Given the description of an element on the screen output the (x, y) to click on. 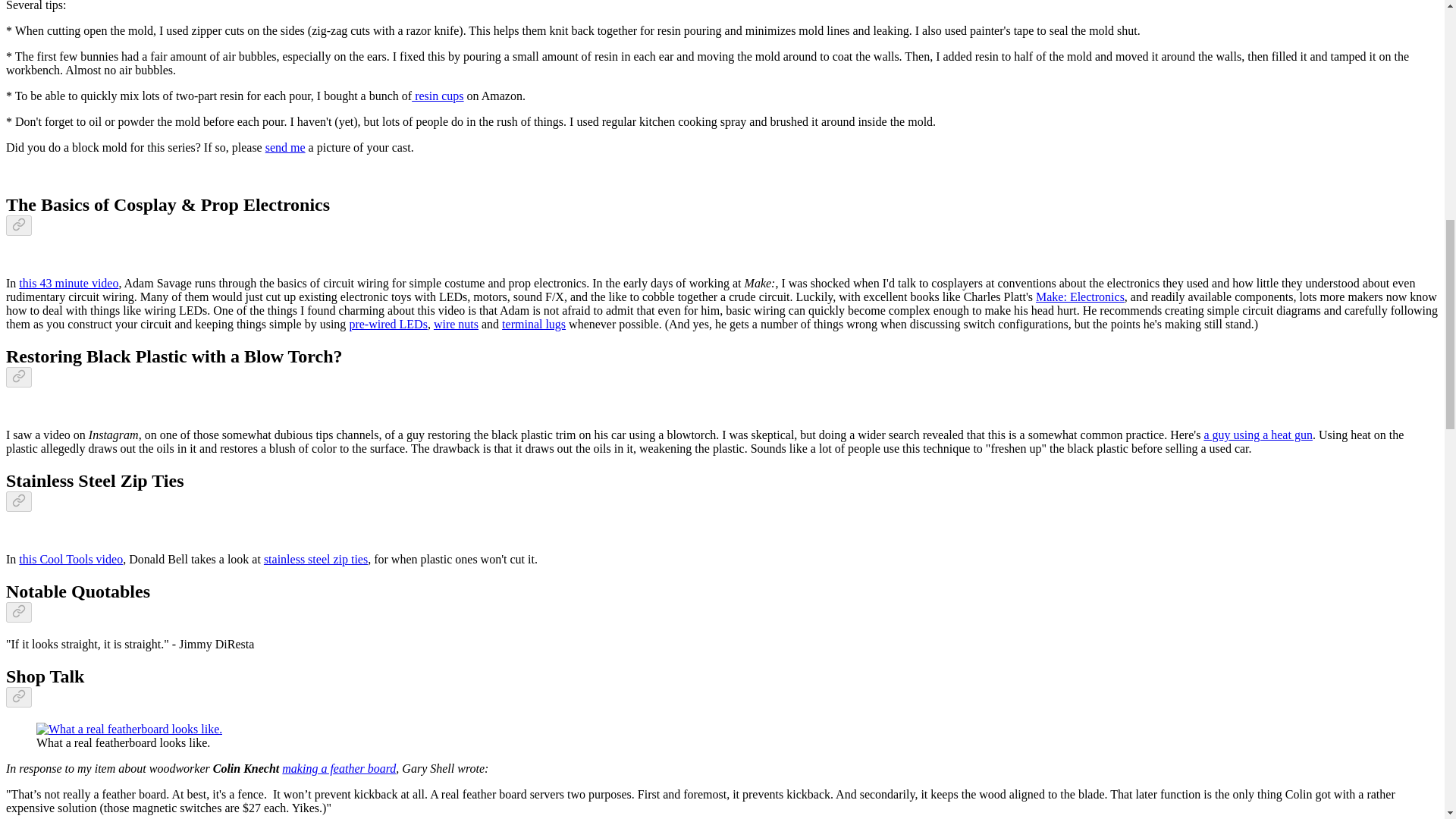
terminal lugs (534, 323)
pre-wired LEDs (388, 323)
Make: Electronics (1079, 296)
send me (284, 146)
wire nuts (456, 323)
a guy using a heat gun (1258, 434)
resin cups (437, 95)
this 43 minute video (67, 282)
What a real featherboard looks like. (129, 729)
